Given the description of an element on the screen output the (x, y) to click on. 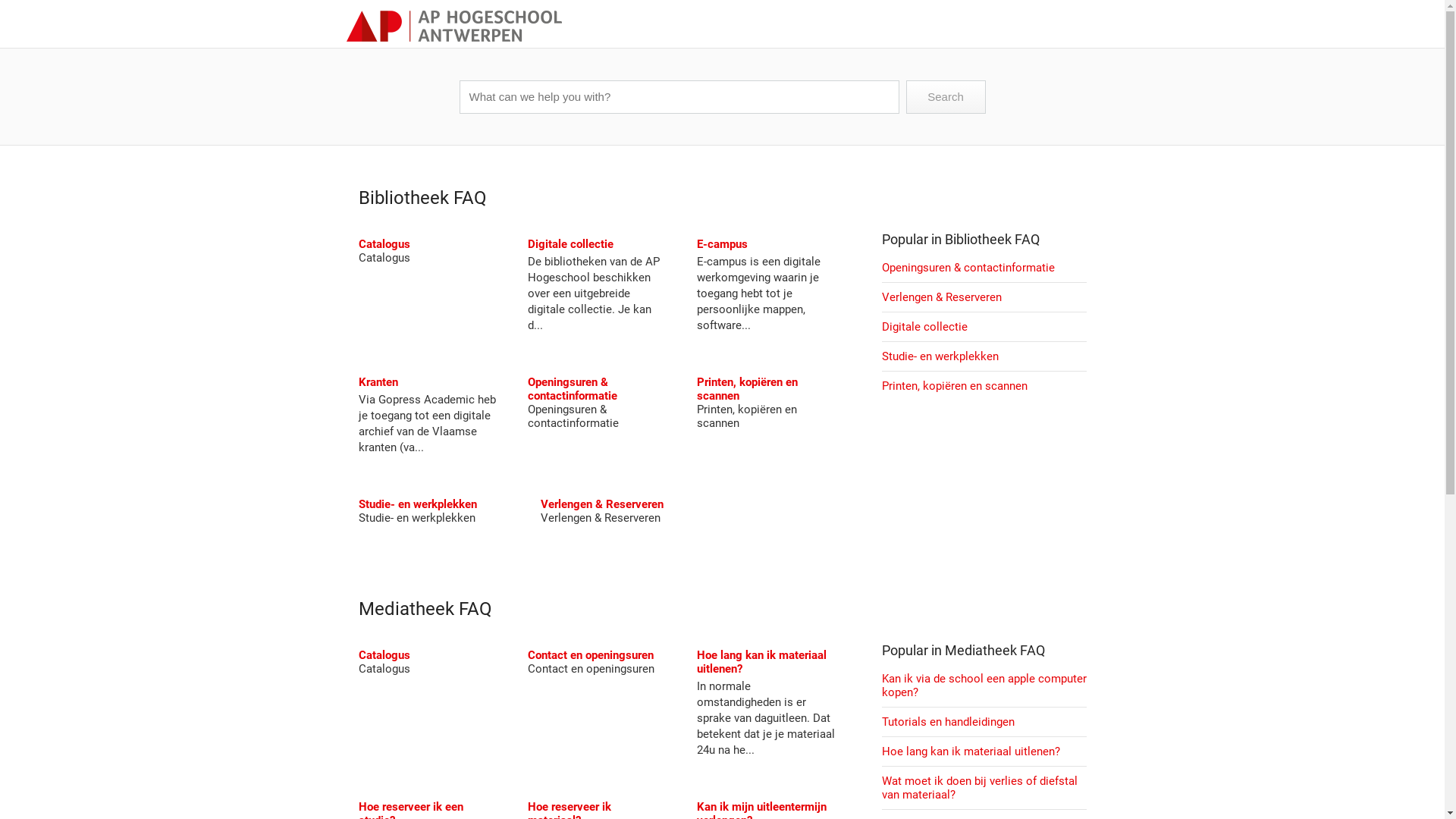
Mediatheek FAQ Element type: text (994, 650)
Catalogus Element type: text (383, 244)
Catalogus Element type: text (383, 655)
Openingsuren & contactinformatie Element type: text (572, 388)
Studie- en werkplekken Element type: text (939, 356)
Tutorials en handleidingen Element type: text (947, 721)
Mediatheek FAQ Element type: text (424, 608)
Digitale collectie Element type: text (923, 326)
Search Element type: text (945, 96)
Digitale collectie Element type: text (570, 244)
Hoe lang kan ik materiaal uitlenen? Element type: text (761, 661)
Kranten Element type: text (377, 382)
Verlengen & Reserveren Element type: text (941, 297)
Contact en openingsuren Element type: text (590, 655)
Kan ik via de school een apple computer kopen? Element type: text (983, 685)
Verlengen & Reserveren Element type: text (600, 504)
Studie- en werkplekken Element type: text (416, 504)
E-campus Element type: text (721, 244)
Openingsuren & contactinformatie Element type: text (967, 267)
Bibliotheek FAQ Element type: text (991, 239)
Bibliotheek FAQ Element type: text (421, 197)
Wat moet ik doen bij verlies of diefstal van materiaal? Element type: text (978, 787)
Hoe lang kan ik materiaal uitlenen? Element type: text (970, 751)
